Given the description of an element on the screen output the (x, y) to click on. 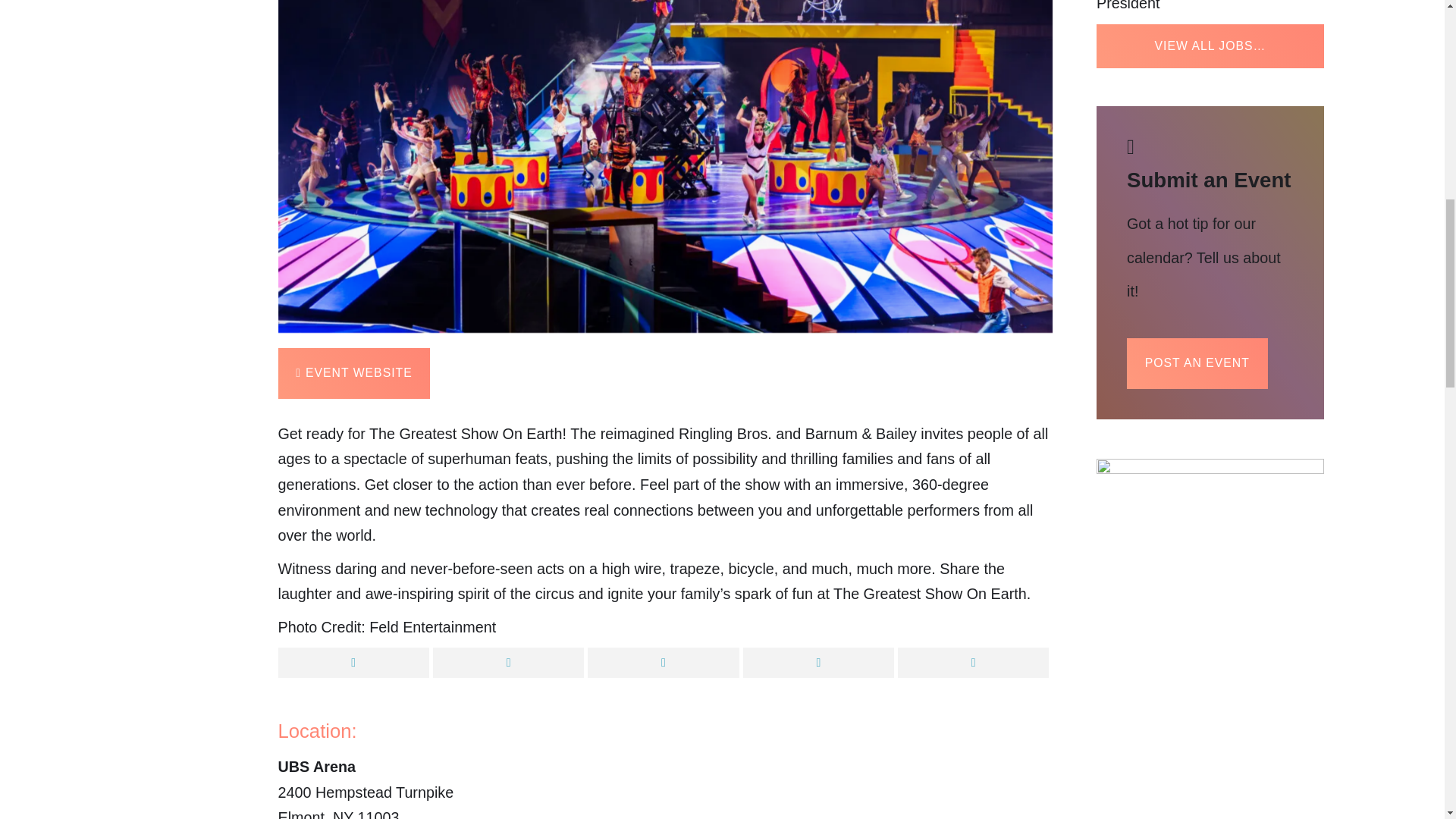
UBS Arena (316, 766)
New York (343, 814)
